Given the description of an element on the screen output the (x, y) to click on. 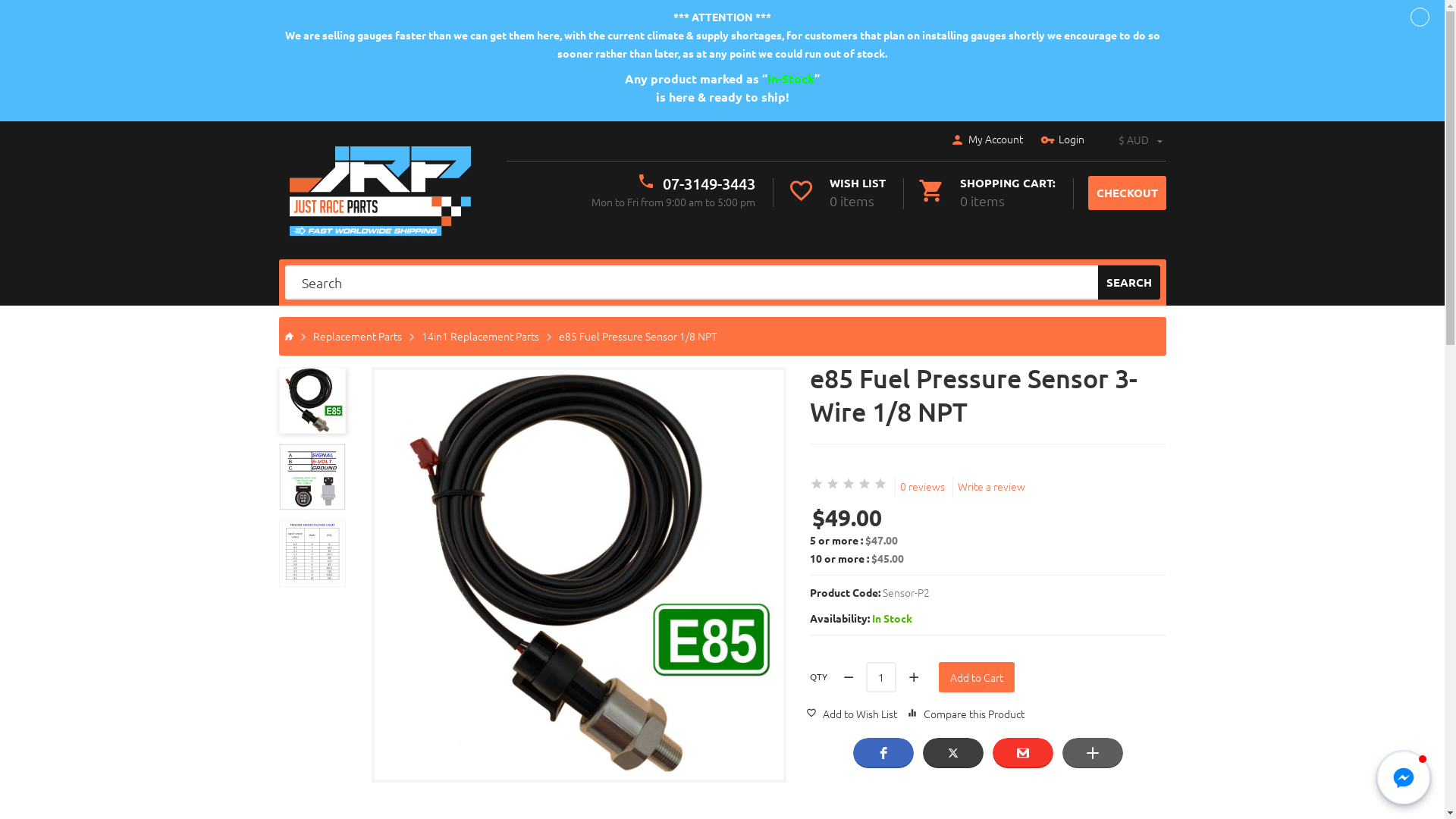
Replacement Parts Element type: text (356, 335)
07-3149-3443 Element type: text (708, 183)
WISH LIST
0 items Element type: text (835, 192)
SEARCH Element type: text (1129, 282)
My Account Element type: text (985, 139)
Just Race Parts Element type: hover (381, 190)
Login Element type: text (1062, 139)
CHECKOUT Element type: text (1126, 192)
Add to Cart Element type: text (976, 677)
Twitter Element type: hover (952, 752)
Add to Wish List Element type: text (850, 712)
14in1 Replacement Parts Element type: text (480, 335)
More Element type: hover (1091, 752)
0 reviews Element type: text (921, 485)
SHOPPING CART:
0 items Element type: text (985, 192)
Write a review Element type: text (990, 485)
Facebook Element type: hover (882, 752)
Gmail Element type: hover (1021, 752)
Compare this Product Element type: text (965, 712)
